Given the description of an element on the screen output the (x, y) to click on. 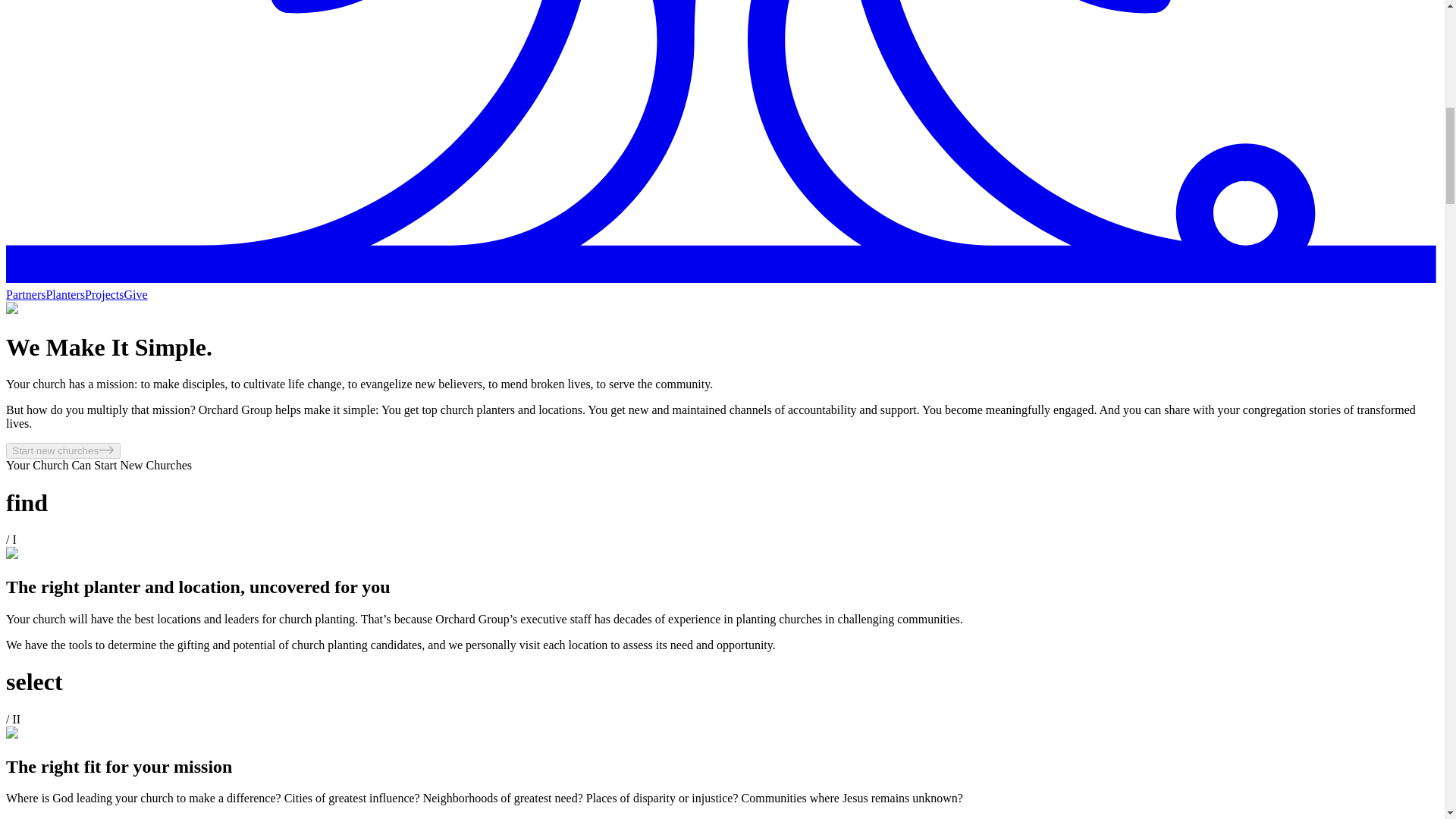
Partners (25, 294)
Give (135, 294)
Projects (103, 294)
Start new churches (62, 450)
Planters (64, 294)
